Given the description of an element on the screen output the (x, y) to click on. 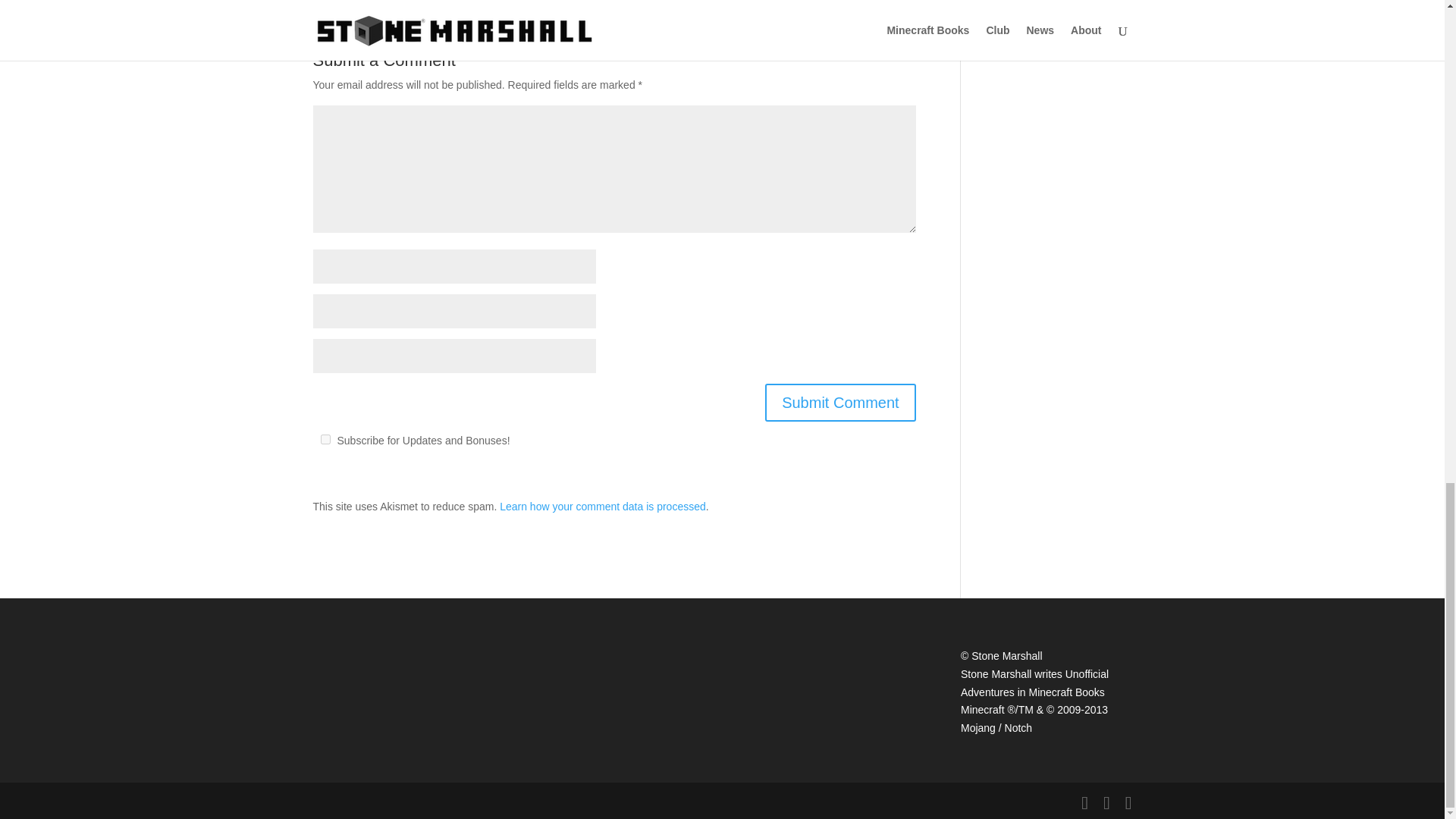
Learn how your comment data is processed (602, 506)
Submit Comment (840, 402)
Submit Comment (840, 402)
1 (324, 439)
